Given the description of an element on the screen output the (x, y) to click on. 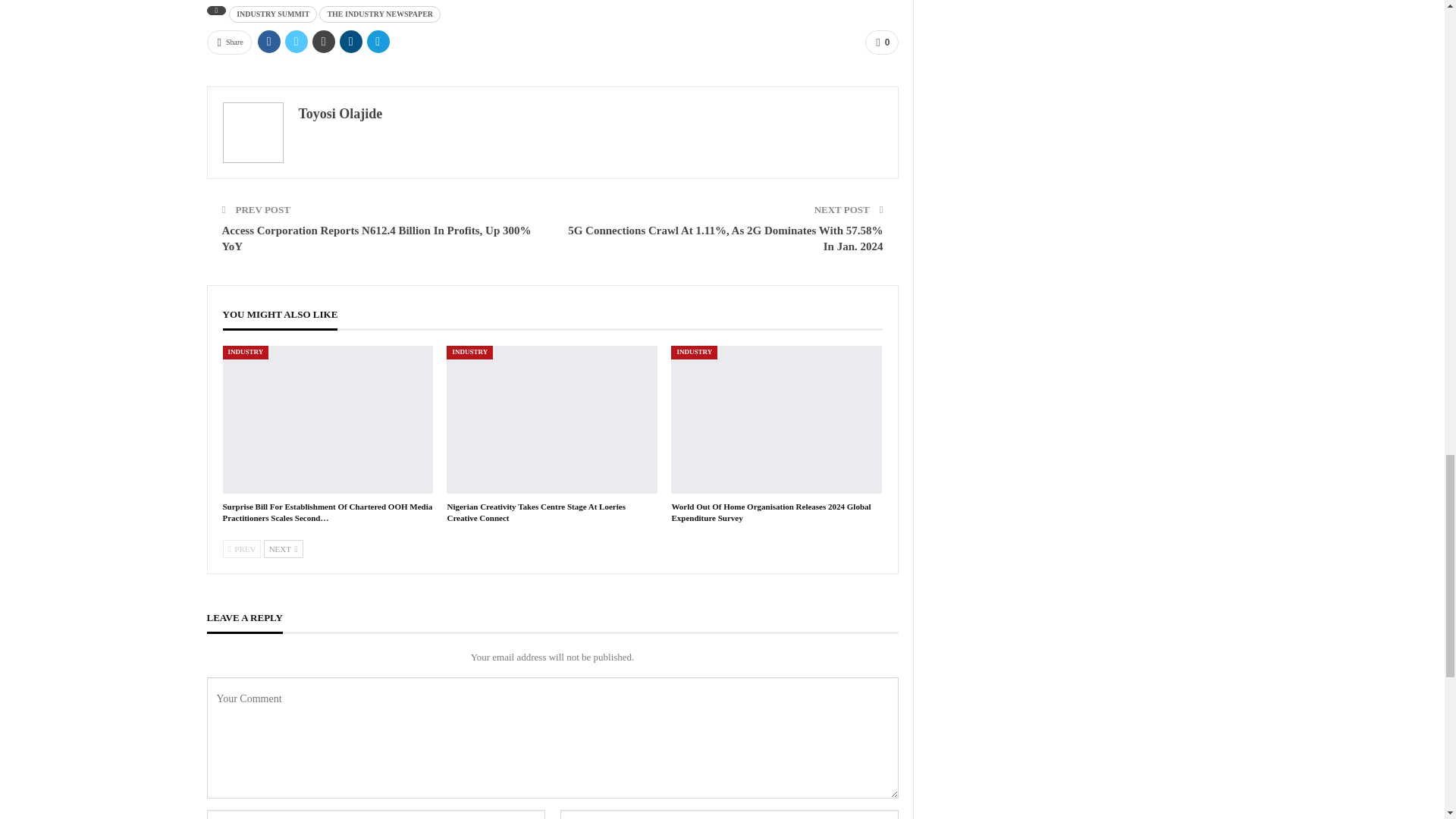
INDUSTRY SUMMIT (272, 13)
